Given the description of an element on the screen output the (x, y) to click on. 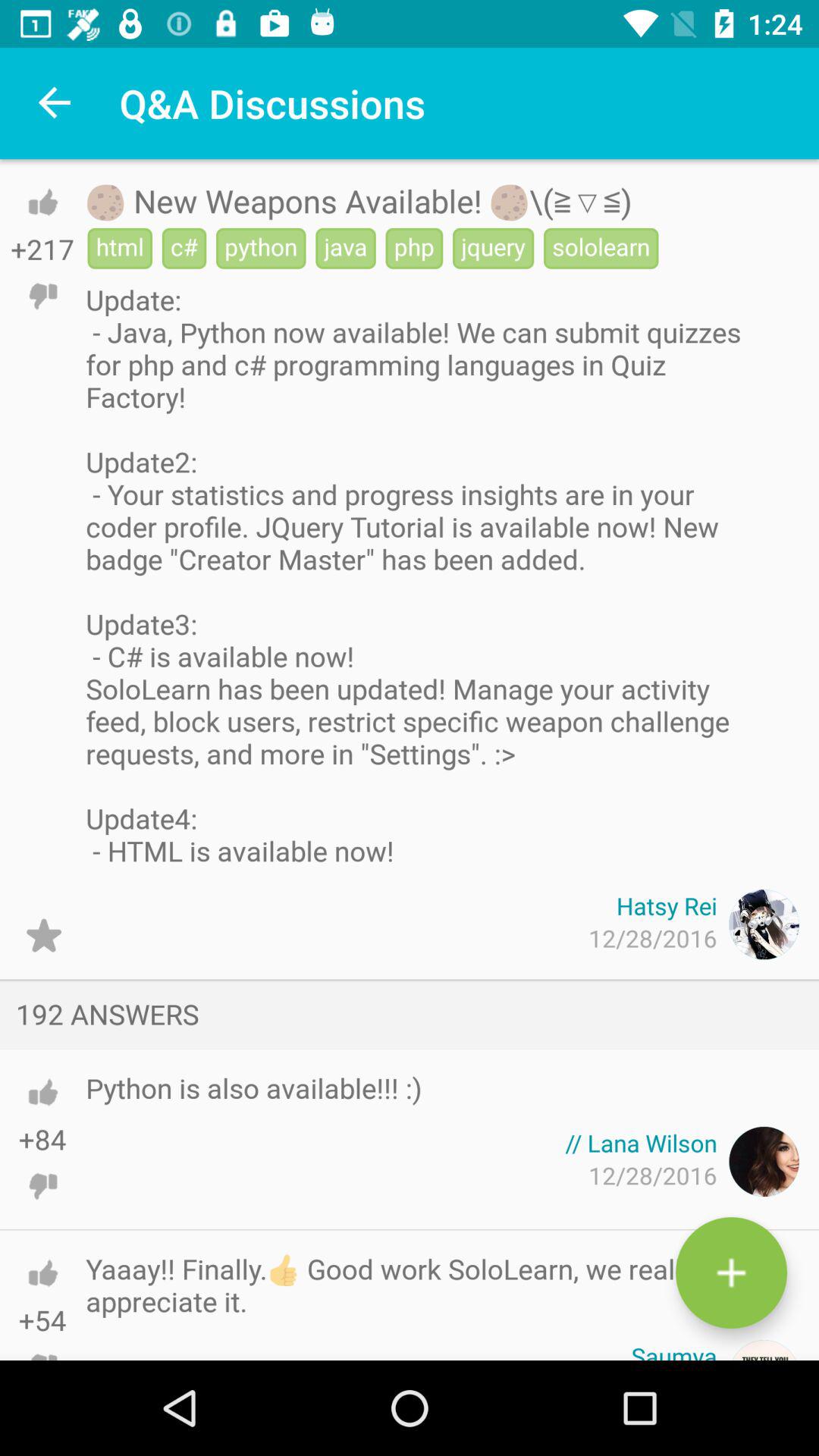
write new answer (731, 1272)
